Given the description of an element on the screen output the (x, y) to click on. 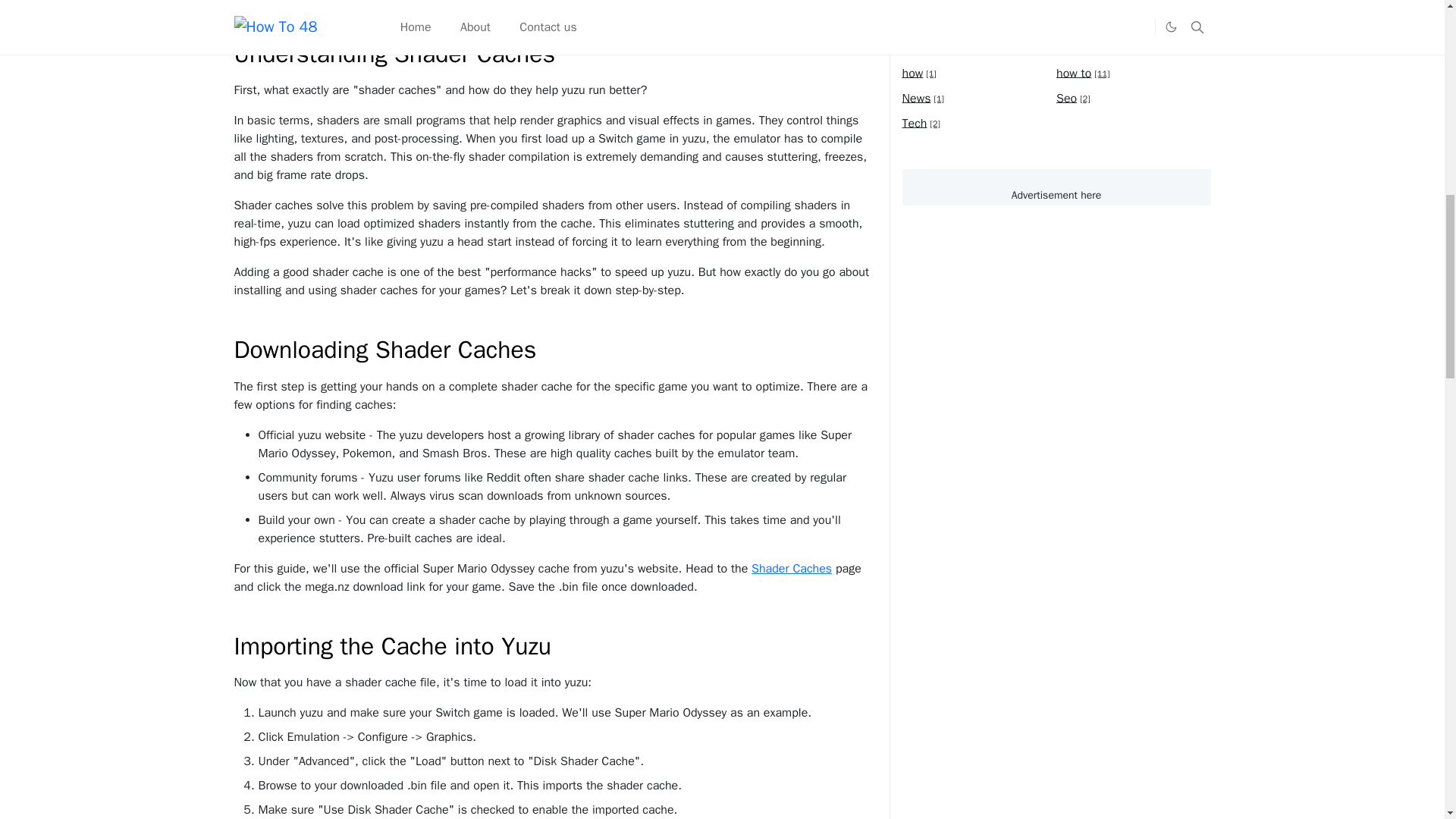
Shader Caches (791, 568)
